Given the description of an element on the screen output the (x, y) to click on. 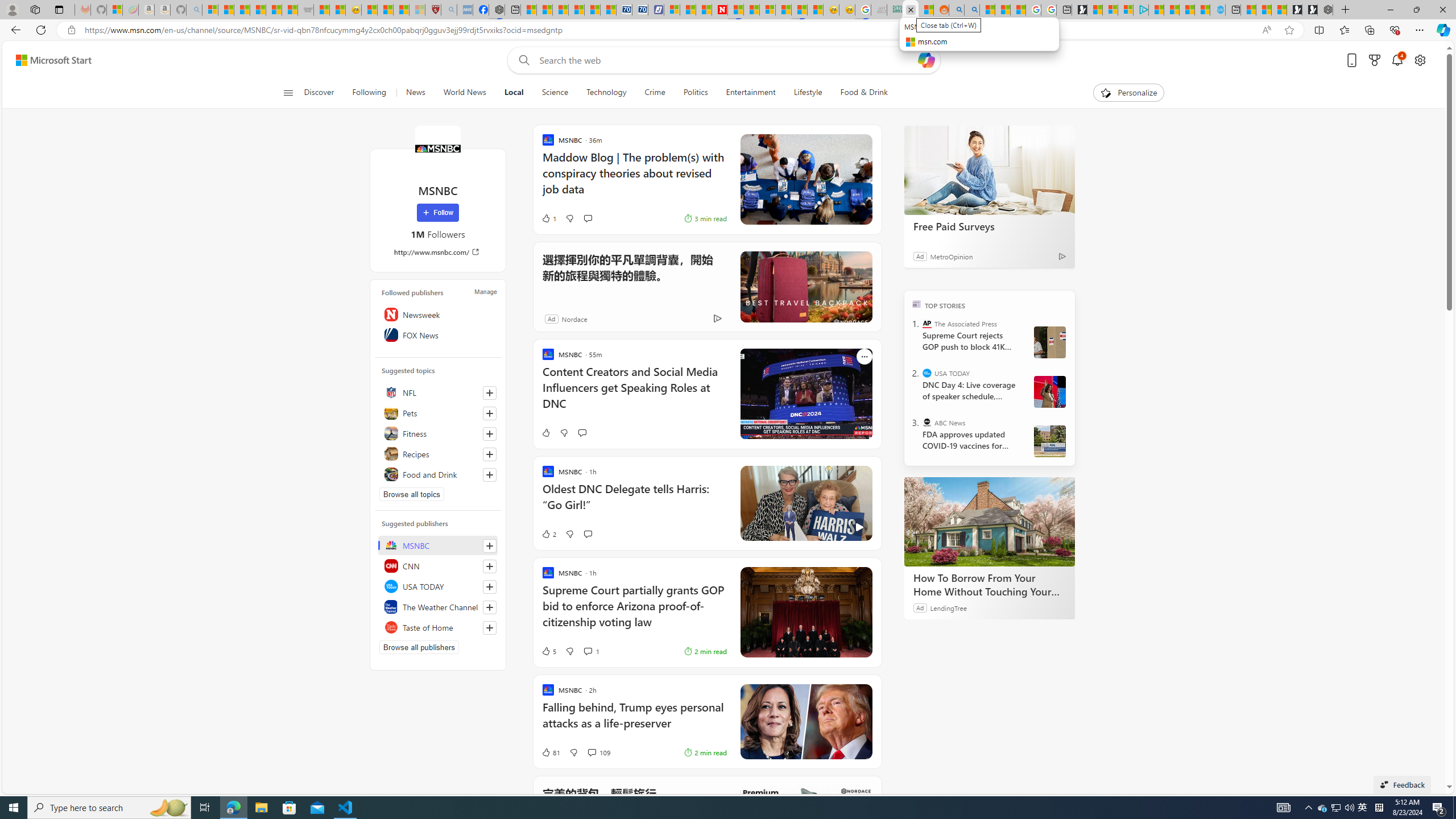
Web search (520, 60)
Like (544, 432)
Science (554, 92)
Local (513, 92)
1 Like (547, 218)
Enter your search term (726, 59)
Personalize (1128, 92)
Crime (655, 92)
